Given the description of an element on the screen output the (x, y) to click on. 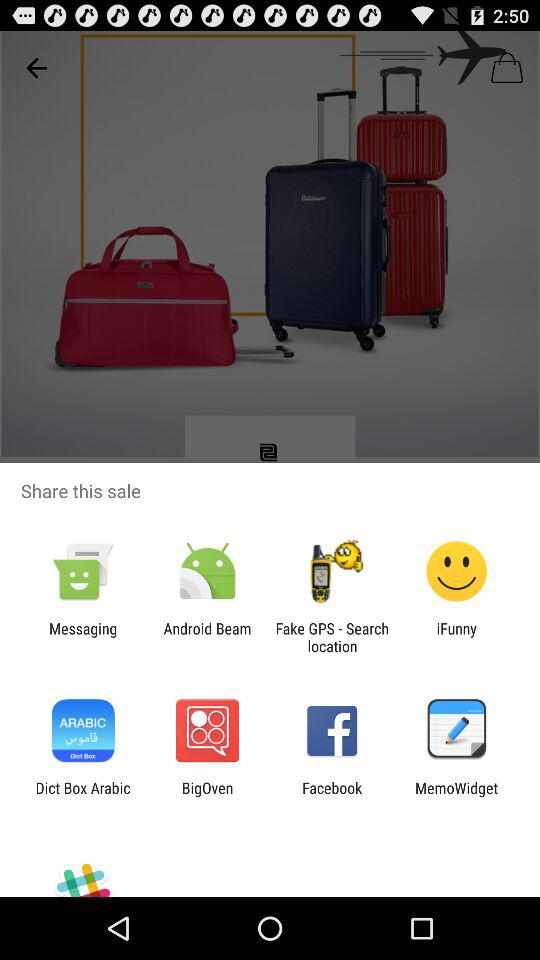
click the facebook app (332, 796)
